Given the description of an element on the screen output the (x, y) to click on. 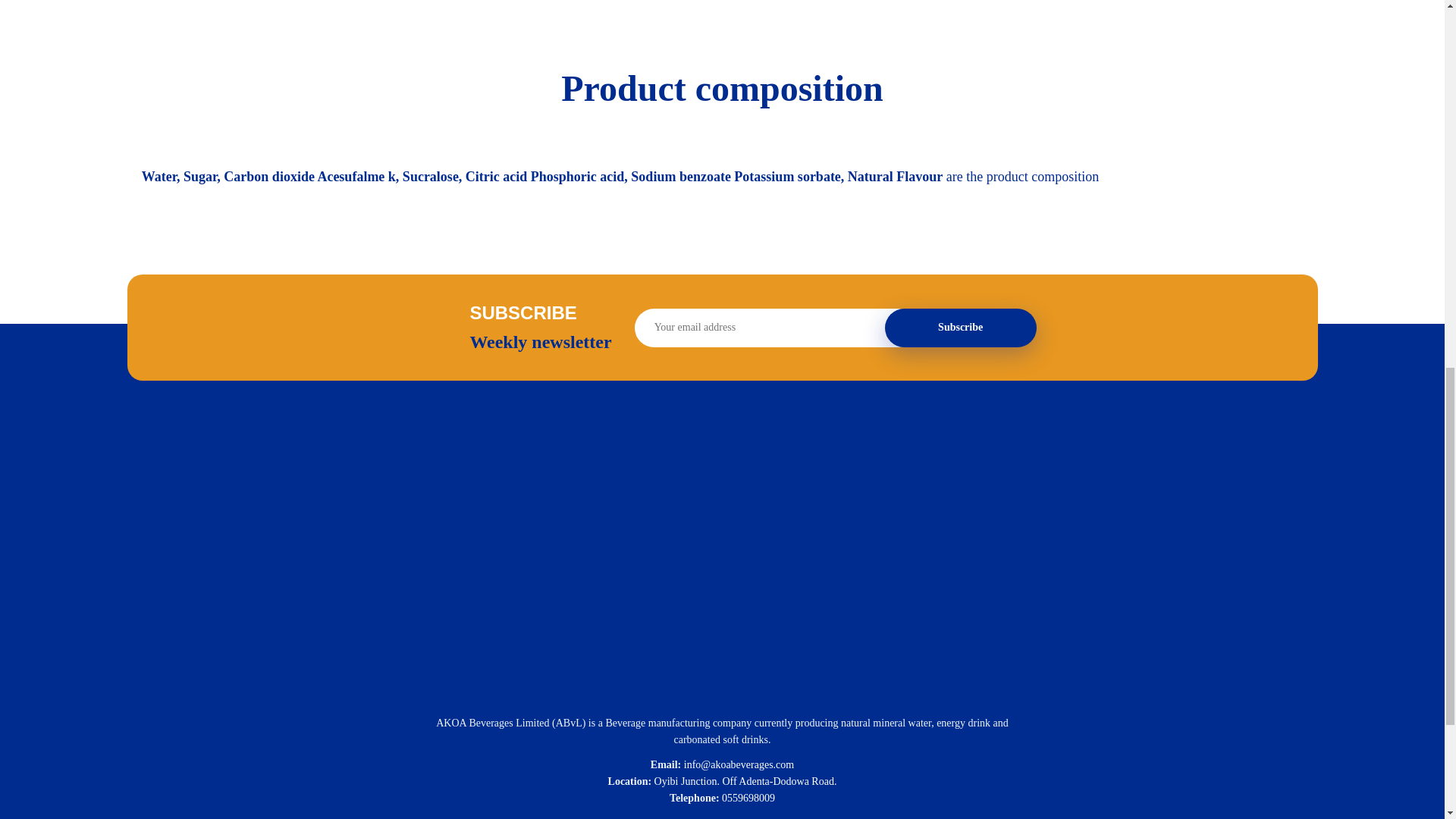
Oyibi Junction. Off Adenta-Dodowa Road (743, 781)
Subscribe (960, 327)
0559698009 (748, 797)
